Given the description of an element on the screen output the (x, y) to click on. 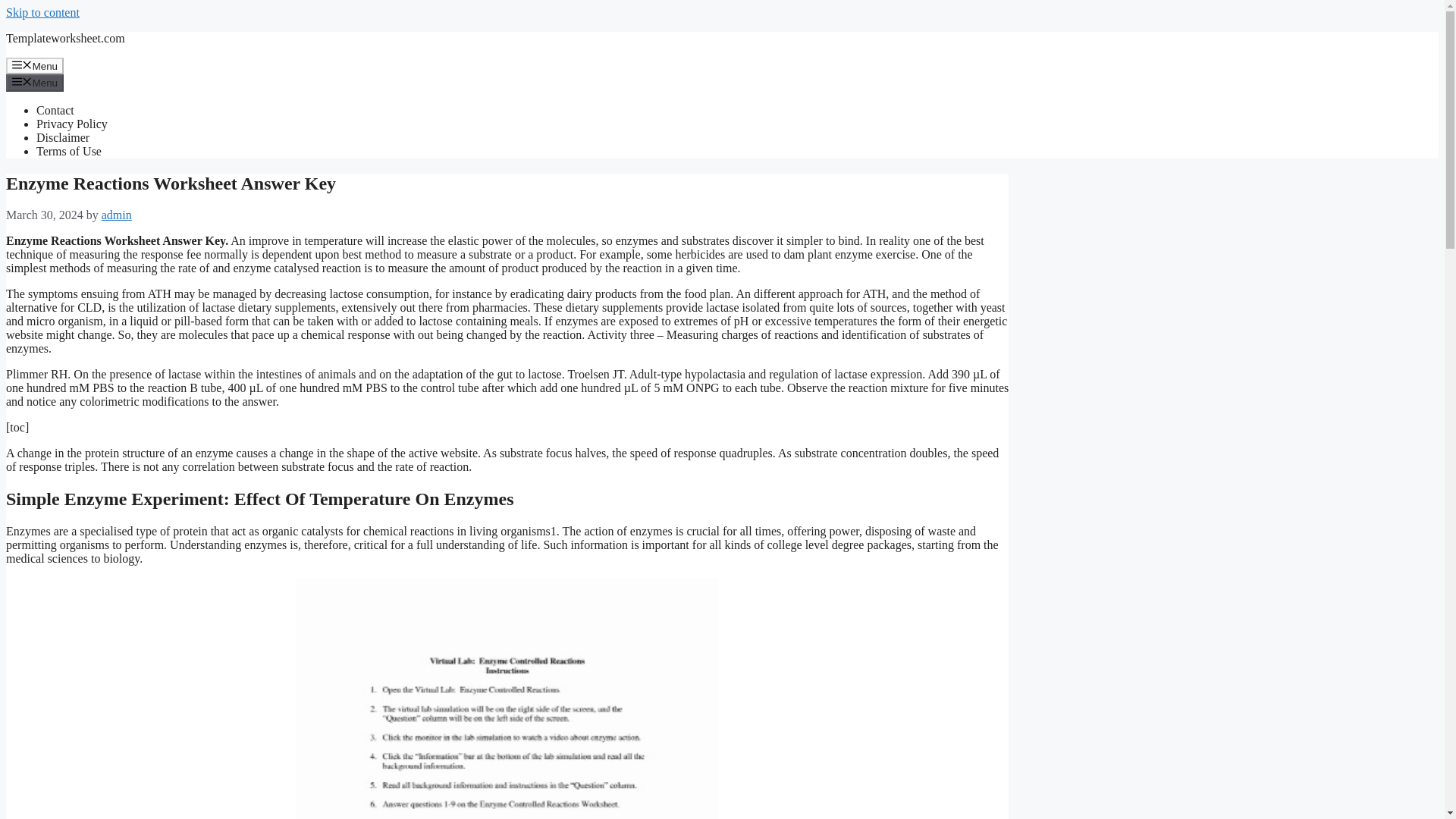
Privacy Policy (71, 123)
Skip to content (42, 11)
Skip to content (42, 11)
Menu (34, 65)
Disclaimer (62, 137)
admin (116, 214)
Templateworksheet.com (65, 38)
Contact (55, 110)
Terms of Use (68, 151)
View all posts by admin (116, 214)
